Given the description of an element on the screen output the (x, y) to click on. 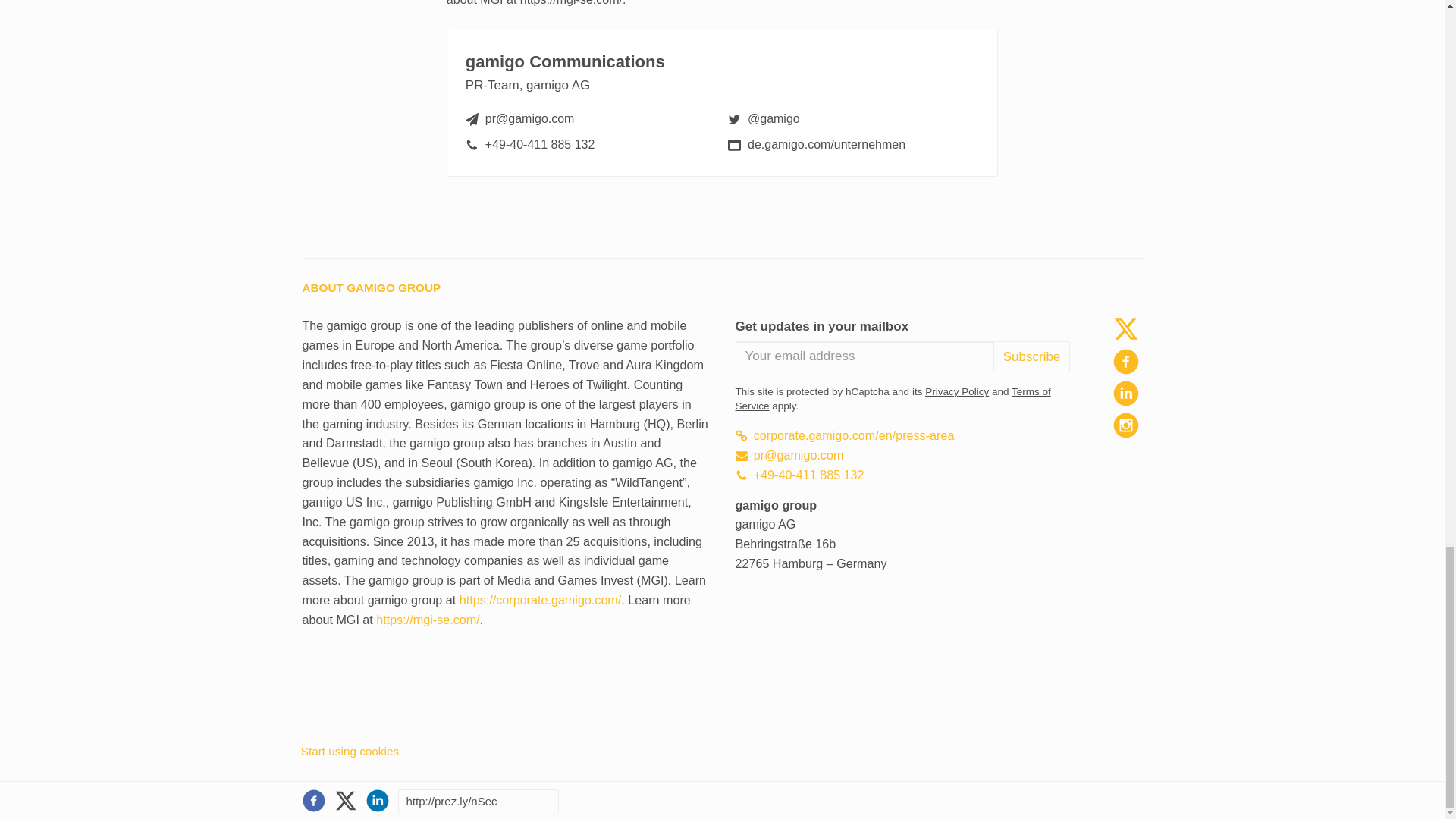
gamigo group Facebook (1125, 360)
Terms of Service (893, 398)
gamigo group Linkedin (1125, 393)
Subscribe (1031, 355)
gamigo group Twitter (1125, 329)
gamigo group Instagram (1125, 425)
Start using cookies (349, 750)
Privacy Policy (956, 391)
